Given the description of an element on the screen output the (x, y) to click on. 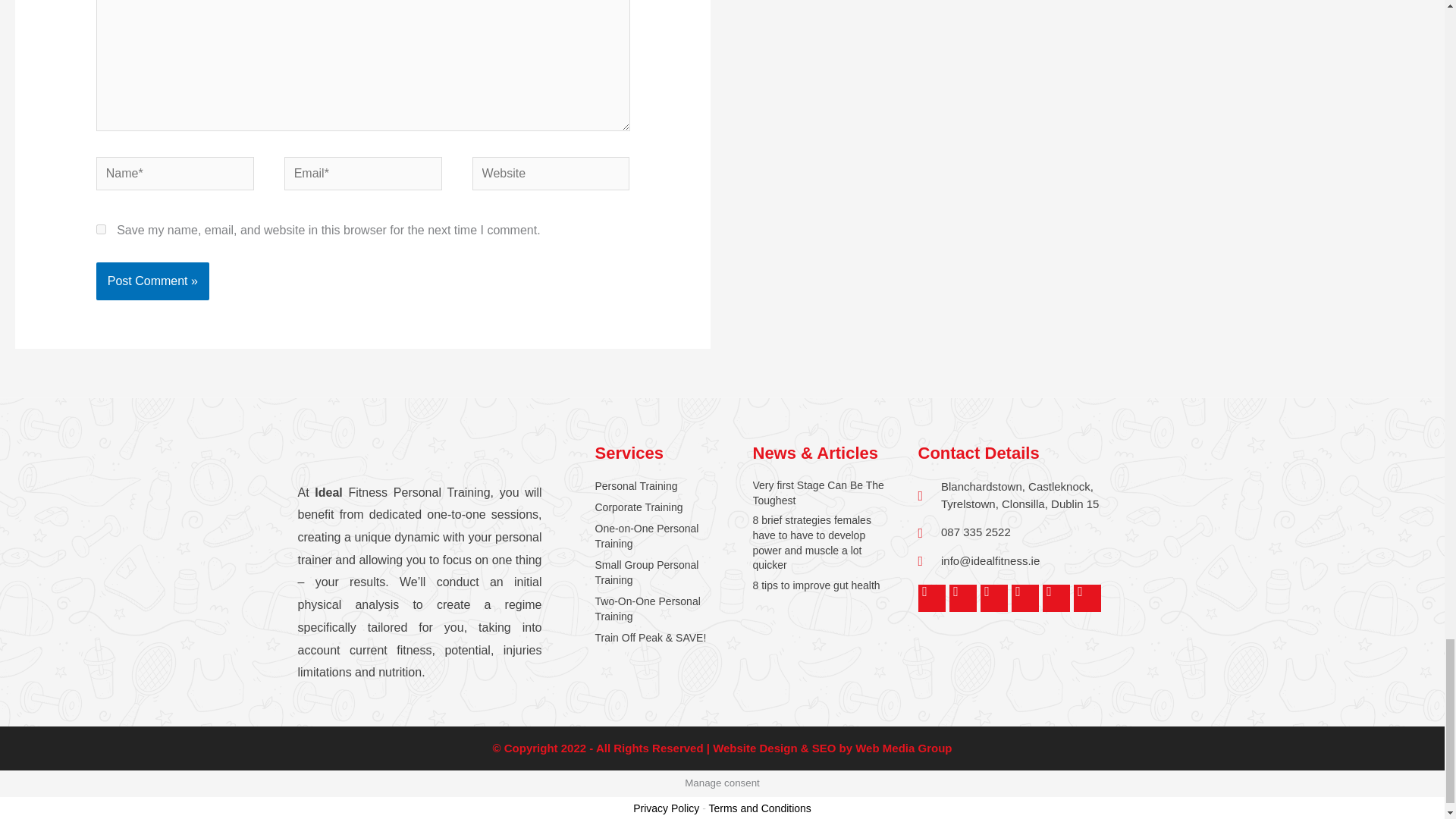
yes (101, 228)
